Given the description of an element on the screen output the (x, y) to click on. 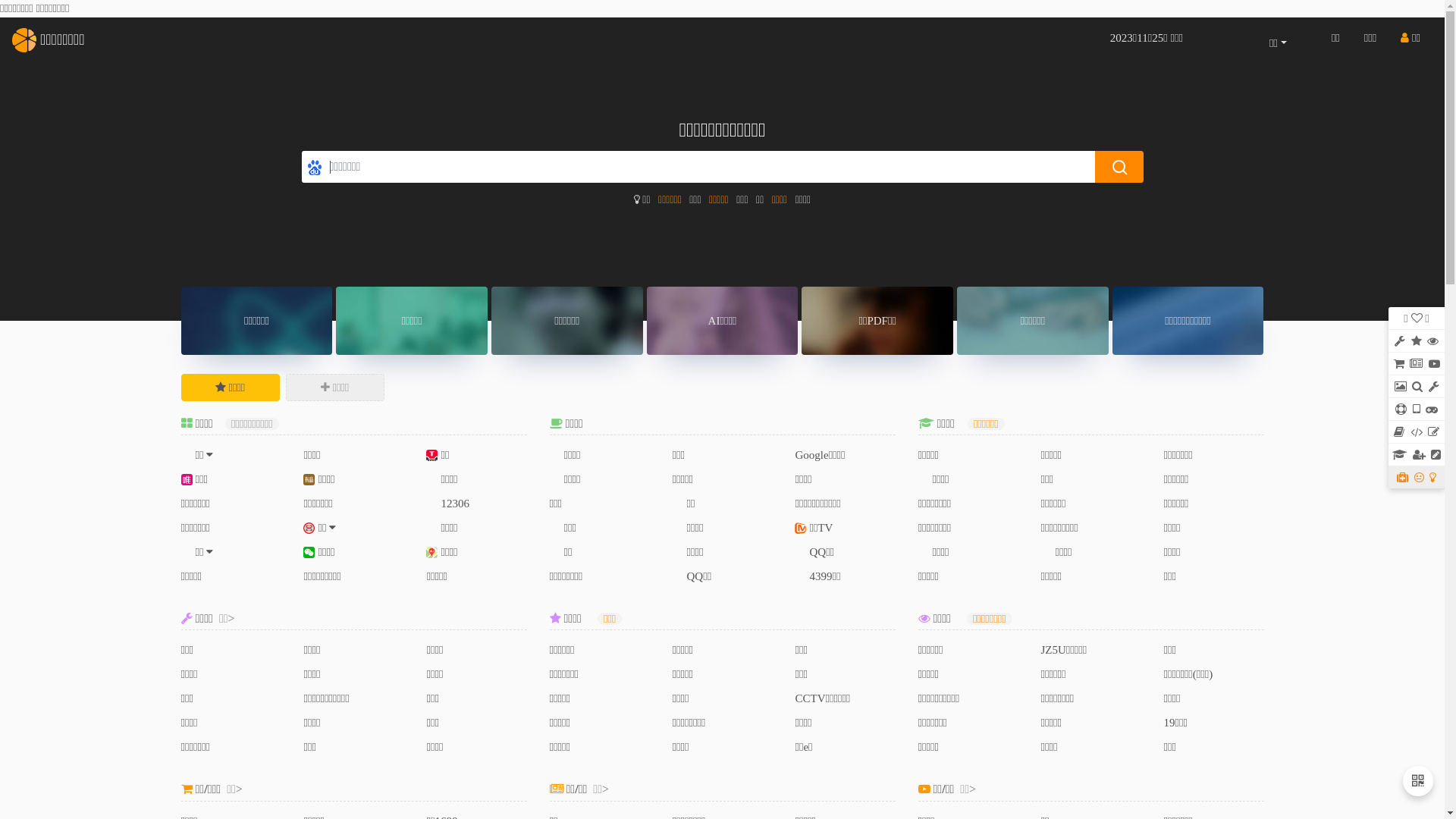
    Element type: text (1416, 409)
    Element type: text (1416, 386)
    Element type: text (1416, 477)
    Element type: text (1416, 454)
    Element type: text (1416, 340)
    Element type: text (1416, 431)
    Element type: text (1416, 363)
12306 Element type: text (447, 503)
